Given the description of an element on the screen output the (x, y) to click on. 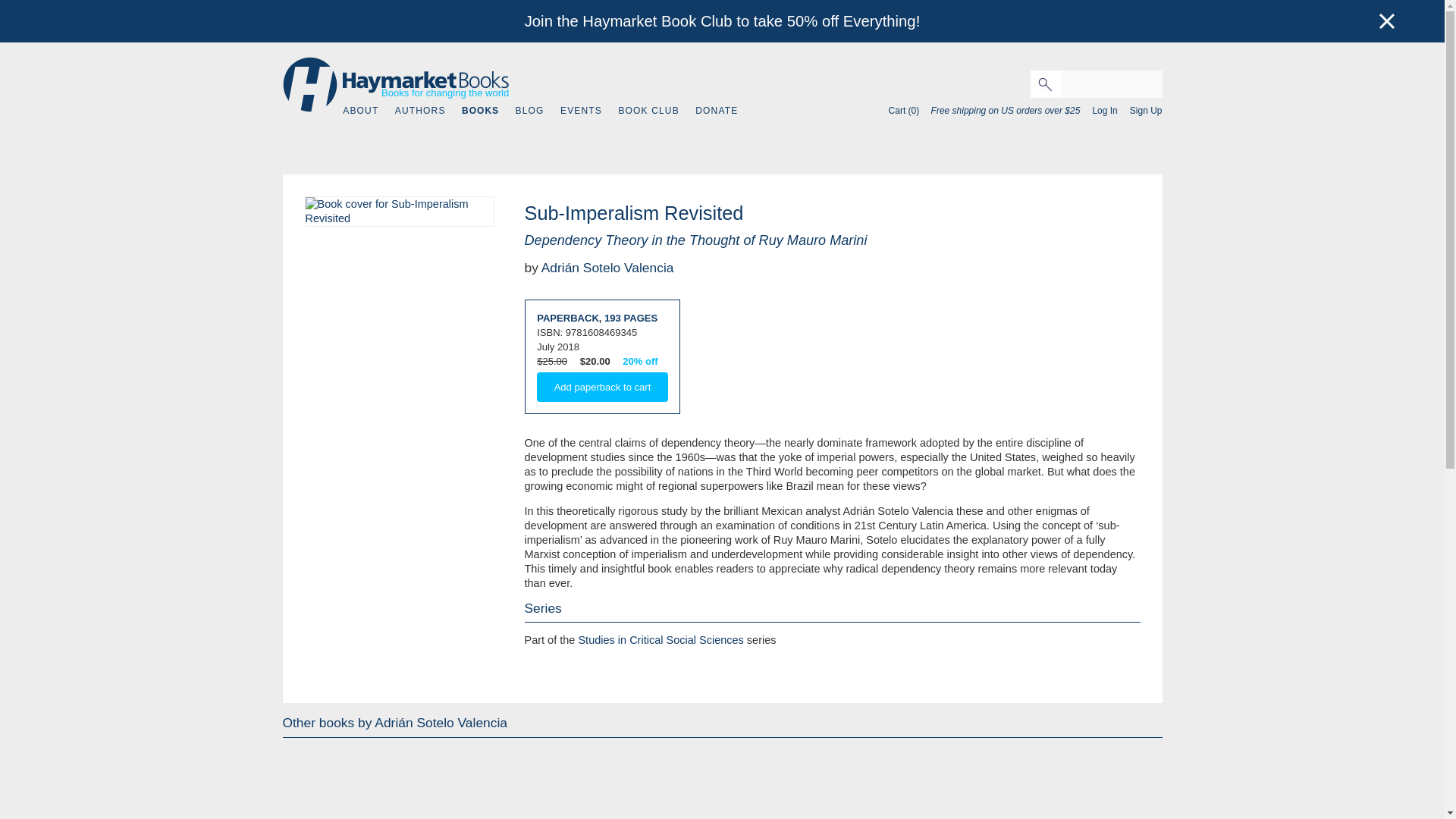
PAPERBACK (567, 317)
BLOG (529, 110)
Add paperback to cart (602, 387)
Sign Up (1141, 110)
BOOKS (480, 110)
Add paperback to cart (602, 387)
193 PAGES (631, 317)
EVENTS (581, 110)
DONATE (716, 110)
ABOUT (360, 110)
